Given the description of an element on the screen output the (x, y) to click on. 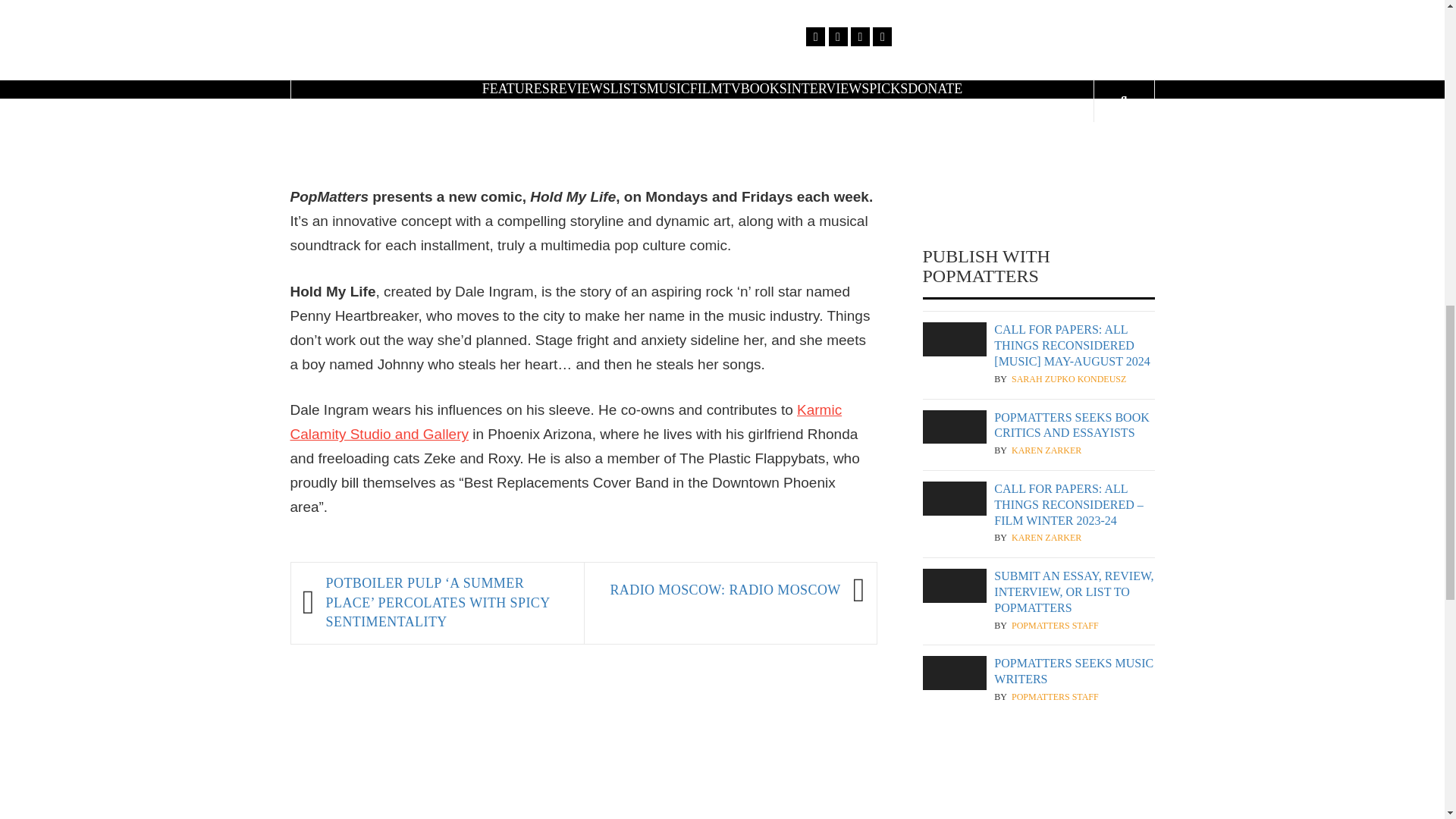
Igor Bannikov (1047, 11)
Karen Zarker (1046, 450)
Karen Zarker (1046, 537)
Sarah Zupko Kondeusz (1068, 379)
Karmic Calamity Studio and Gallery (565, 422)
PopMatters Staff (1055, 697)
PopMatters Staff (1055, 625)
RADIO MOSCOW: RADIO MOSCOW (718, 590)
Karmic Calamity Studio and Gallery (565, 422)
